Given the description of an element on the screen output the (x, y) to click on. 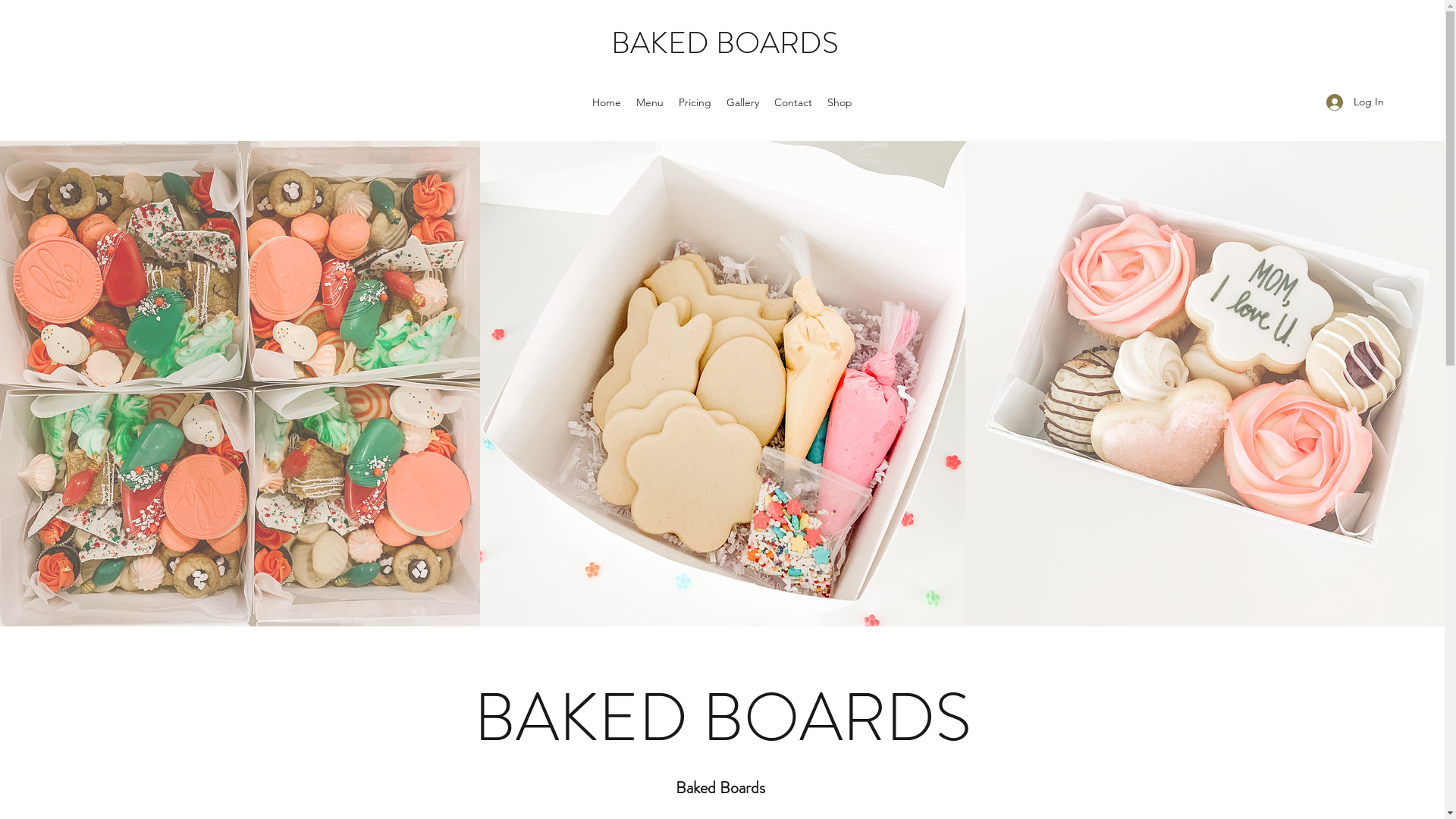
Shop Element type: text (839, 102)
Gallery Element type: text (742, 102)
BAKED BOARDS Element type: text (724, 42)
Contact Element type: text (792, 102)
Pricing Element type: text (694, 102)
Menu Element type: text (649, 102)
Home Element type: text (606, 102)
Log In Element type: text (1349, 101)
